Given the description of an element on the screen output the (x, y) to click on. 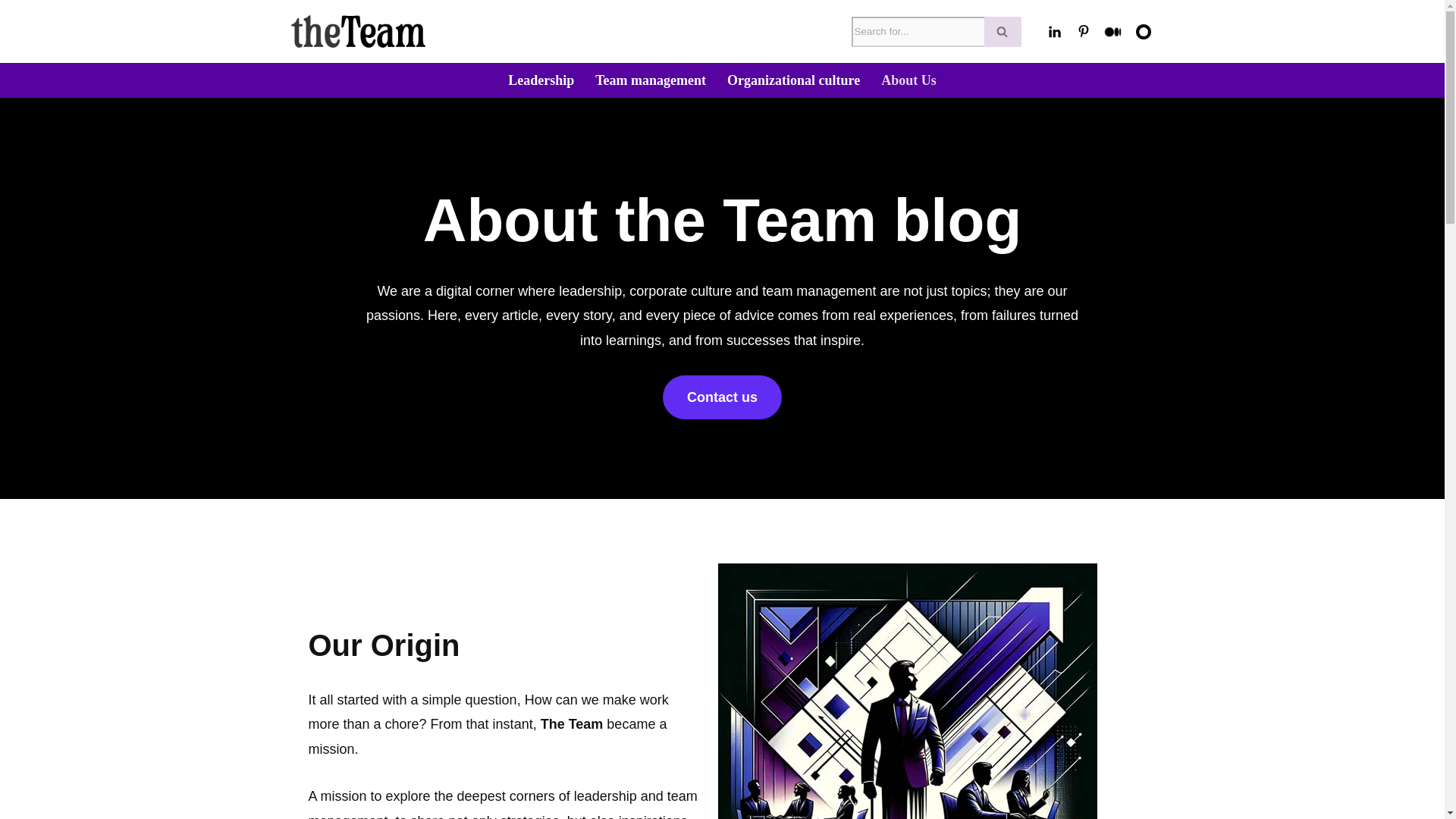
Organizational culture (793, 79)
Linkedin (1053, 31)
About Us (908, 79)
Team management (650, 79)
theDotblog (1142, 31)
Pinterest (1082, 31)
Leadership (540, 79)
Skip to content (11, 31)
Contact us (721, 397)
Medium (1112, 31)
